Given the description of an element on the screen output the (x, y) to click on. 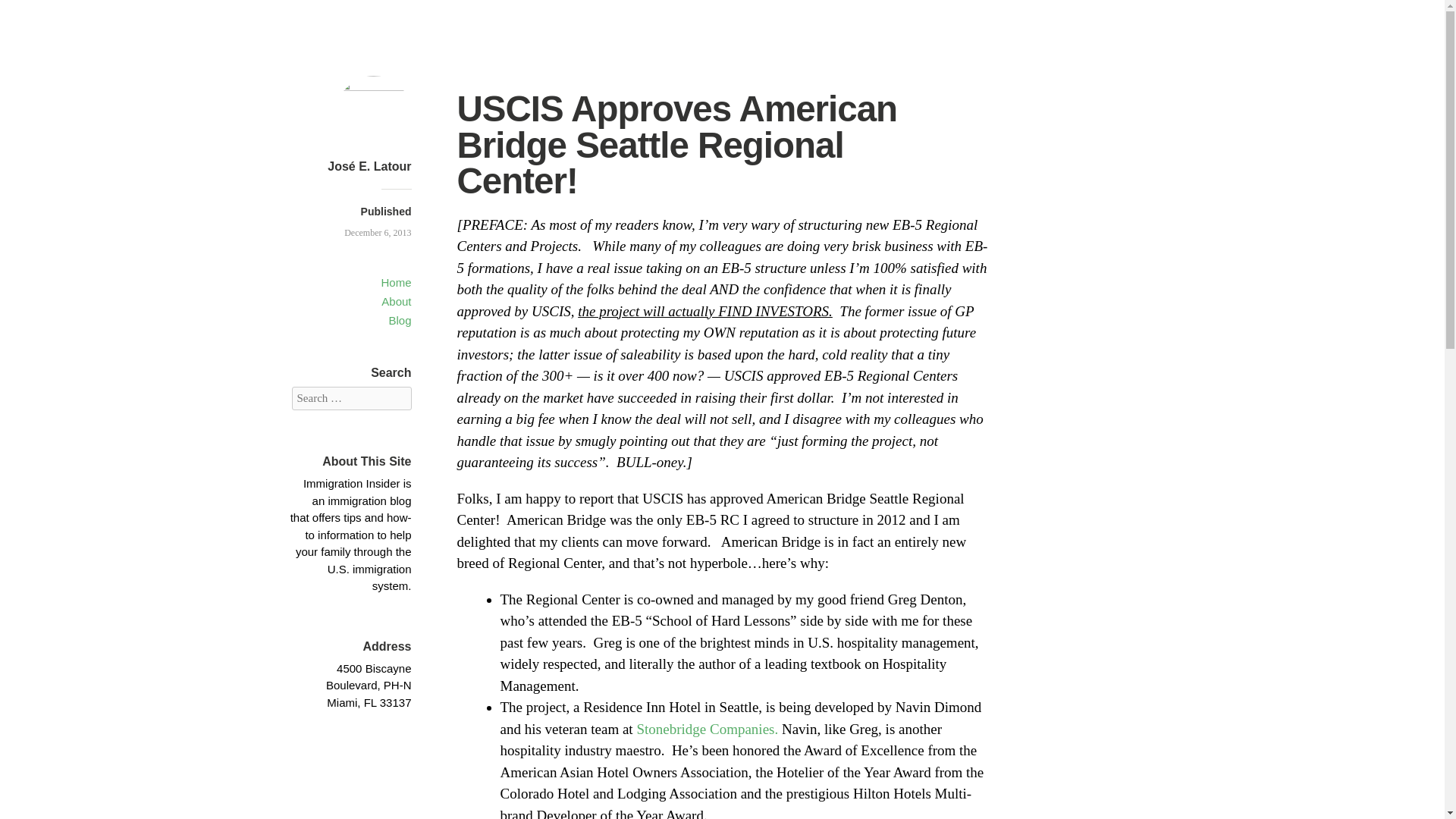
Stonebridge Companies. (706, 728)
Search (29, 13)
Blog (399, 319)
About (395, 300)
USCIS Approves American Bridge Seattle Regional Center! (376, 232)
December 6, 2013 (376, 232)
Home (395, 282)
